Given the description of an element on the screen output the (x, y) to click on. 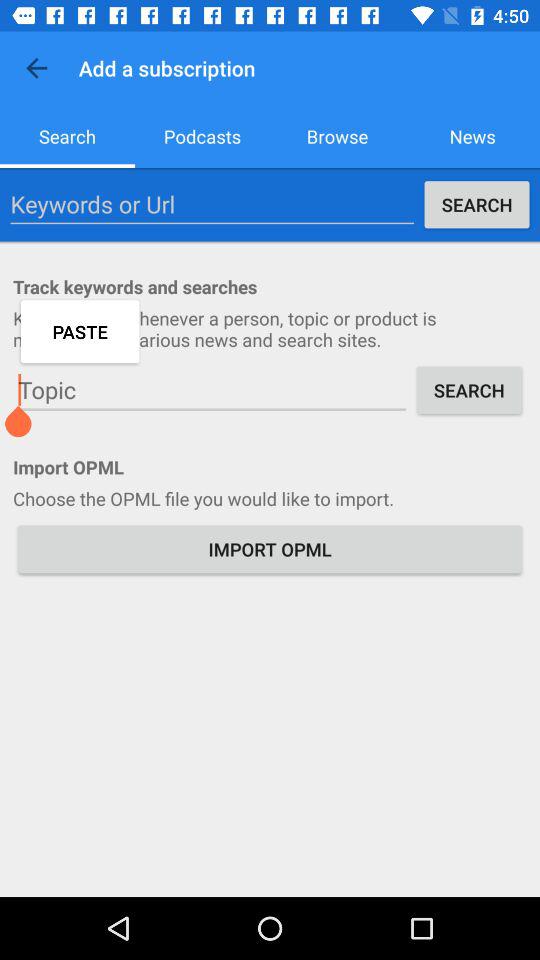
search topic option (212, 390)
